Given the description of an element on the screen output the (x, y) to click on. 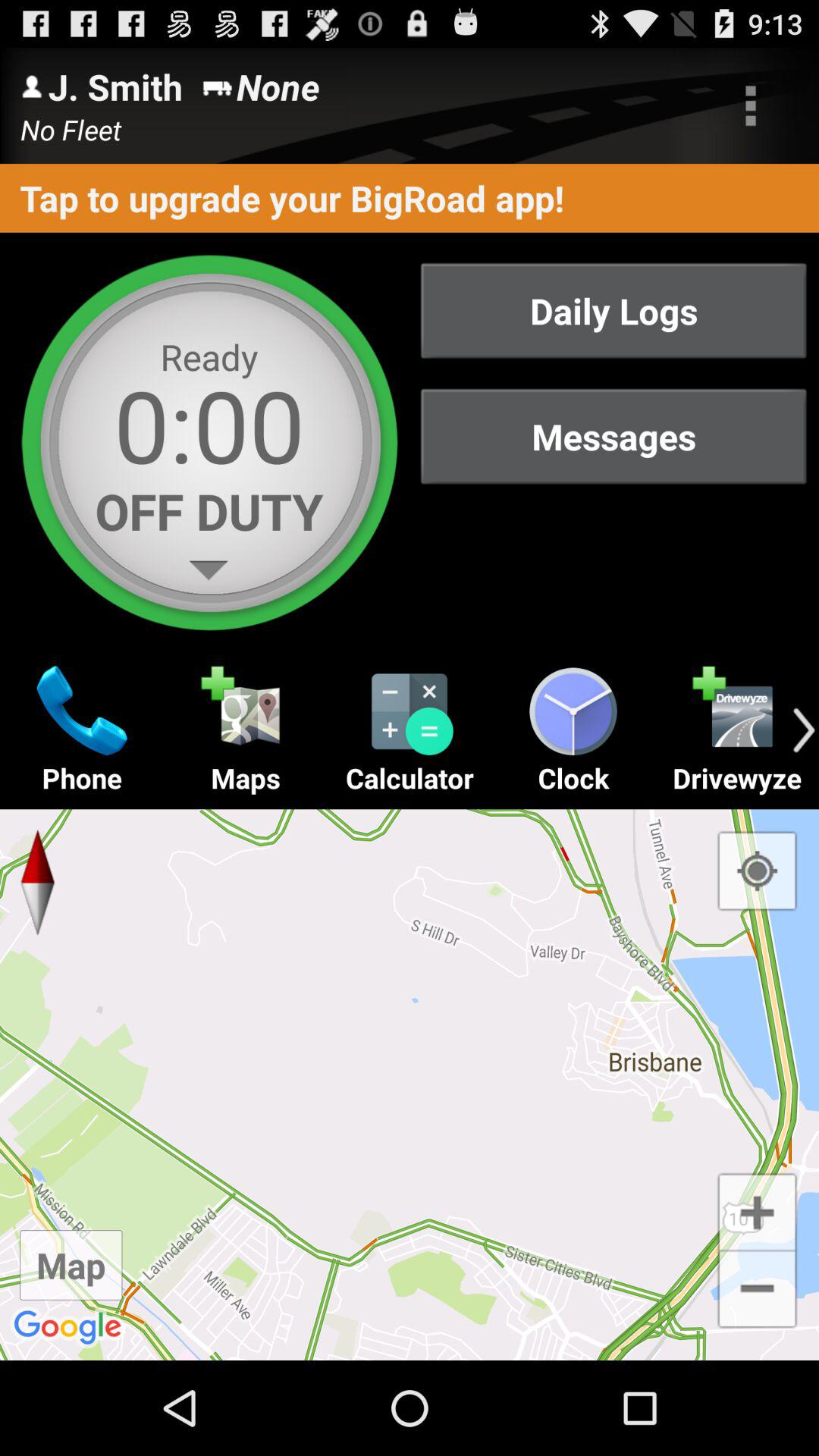
turn on the icon above the tap to upgrade app (750, 105)
